Given the description of an element on the screen output the (x, y) to click on. 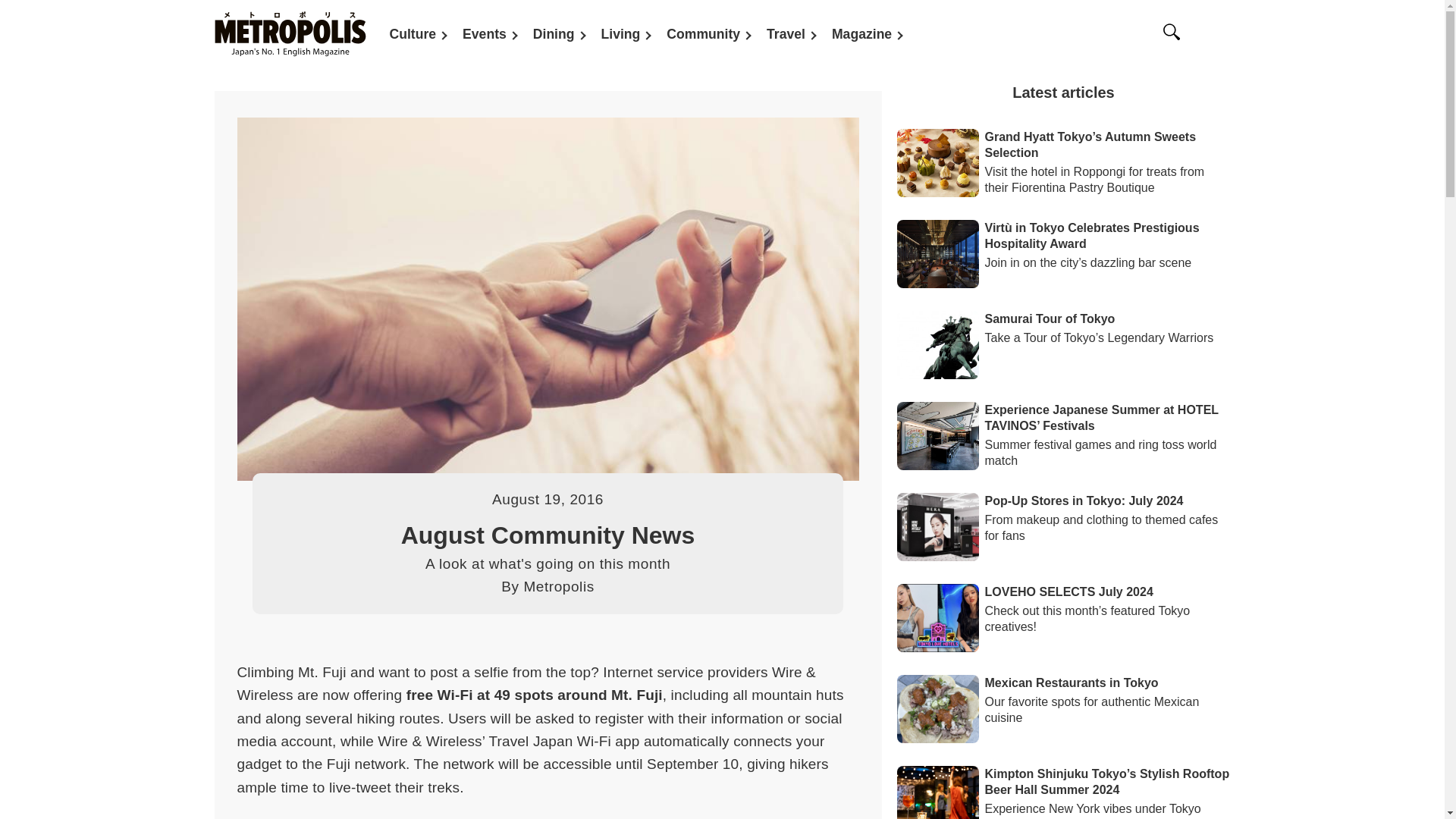
Metropolis (558, 586)
Posts by Metropolis (558, 586)
